Given the description of an element on the screen output the (x, y) to click on. 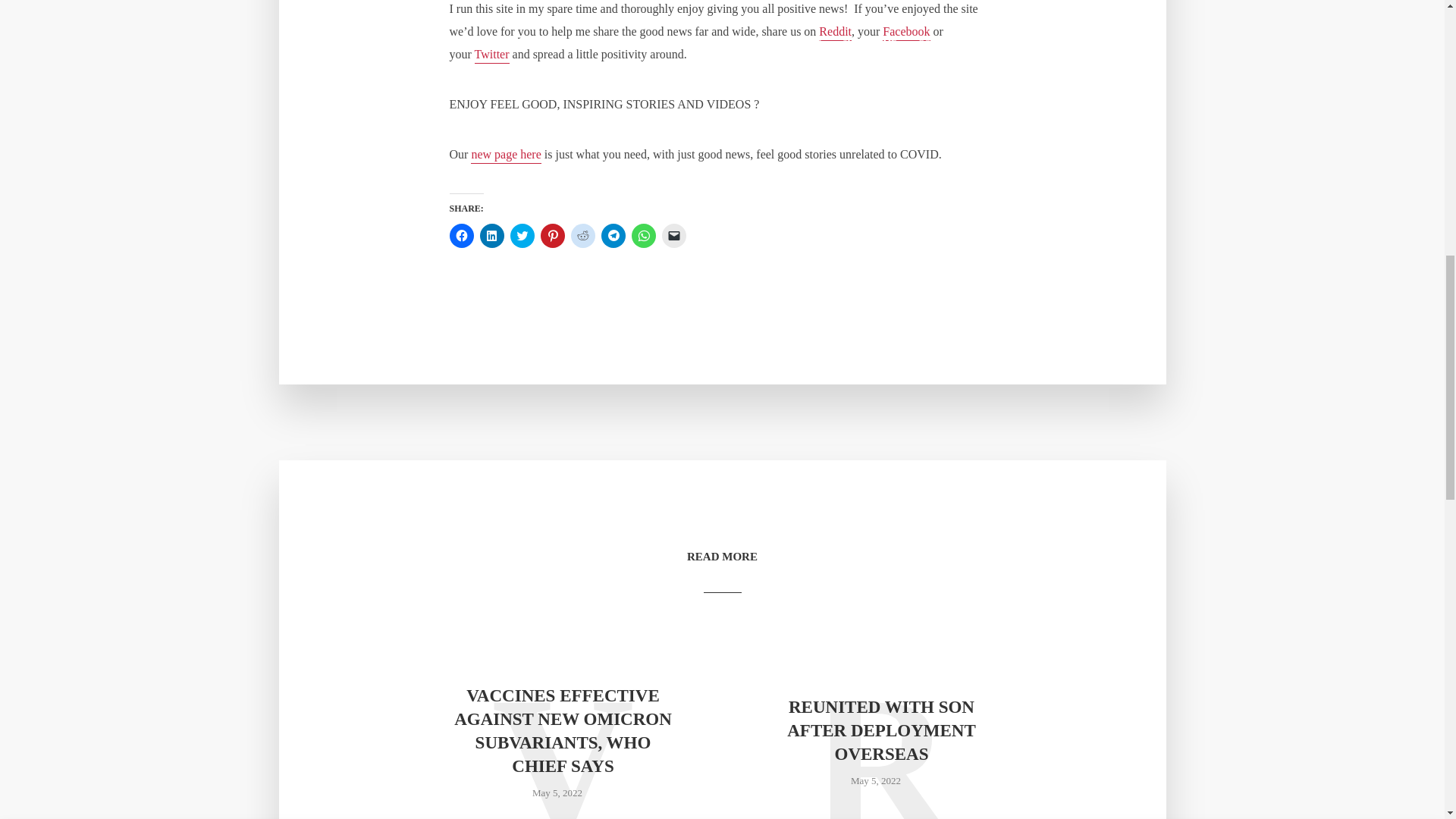
Click to share on Pinterest (552, 235)
Click to share on WhatsApp (642, 235)
Click to email a link to a friend (673, 235)
Click to share on Twitter (521, 235)
Click to share on Telegram (611, 235)
Click to share on LinkedIn (491, 235)
Click to share on Facebook (460, 235)
Click to share on Reddit (582, 235)
